Given the description of an element on the screen output the (x, y) to click on. 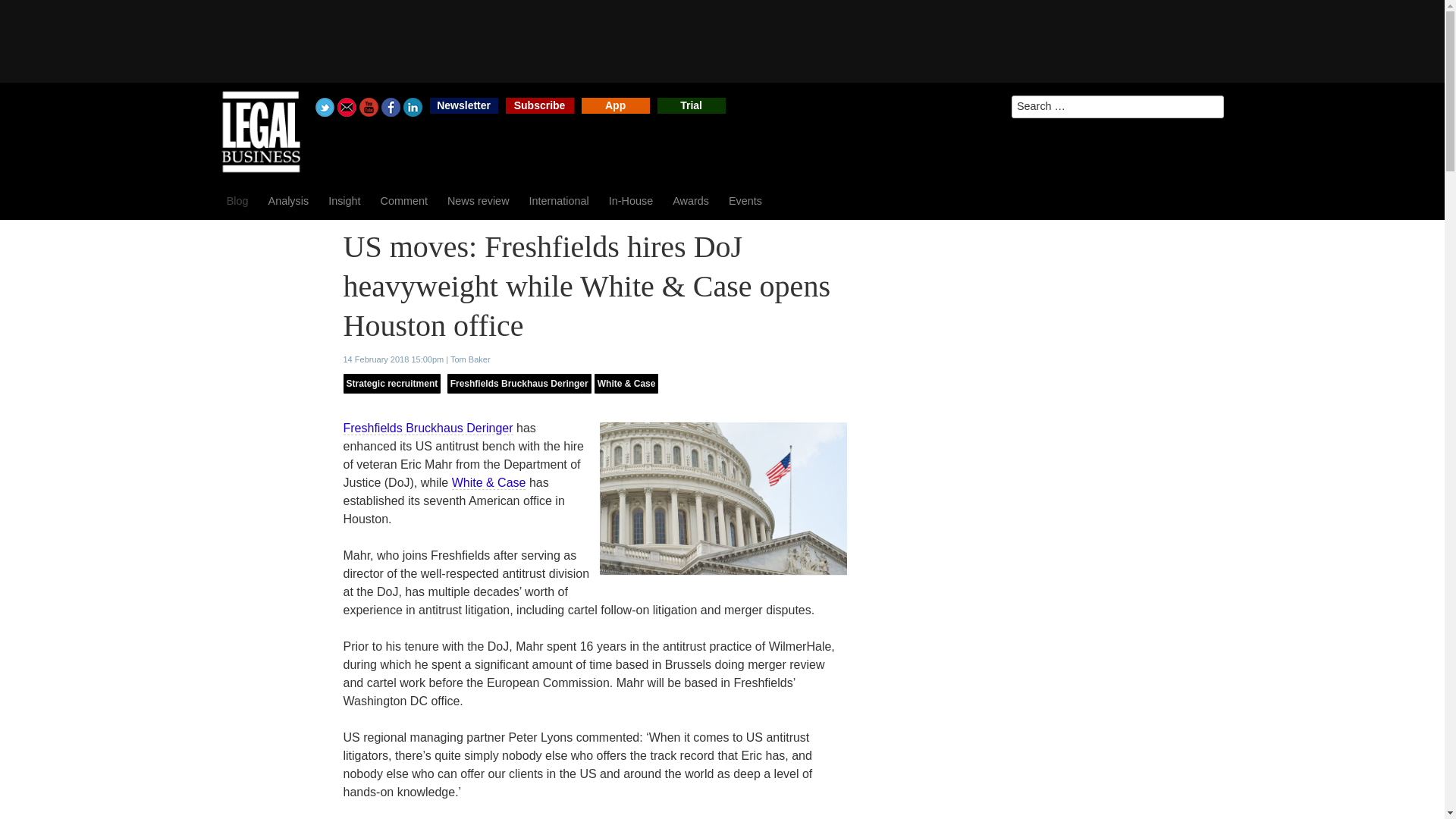
Legal Business on Twitter (324, 107)
The Legal 500 LinkedIn Company Page (412, 107)
Email Legal Business (346, 107)
Events (745, 200)
Analysis (288, 200)
App (614, 105)
International (558, 200)
Sign-up to the Legal Business Newsletter (463, 105)
3rd party ad content (721, 41)
Freshfields Bruckhaus Deringer (427, 427)
Subscribe to Legal Business Magazine (539, 105)
Legal Business Android and iOS App for mobile and tablets (614, 105)
In-House (630, 200)
Legal Business Facebook Page (390, 107)
14 February 2018 15:00pm (393, 358)
